Given the description of an element on the screen output the (x, y) to click on. 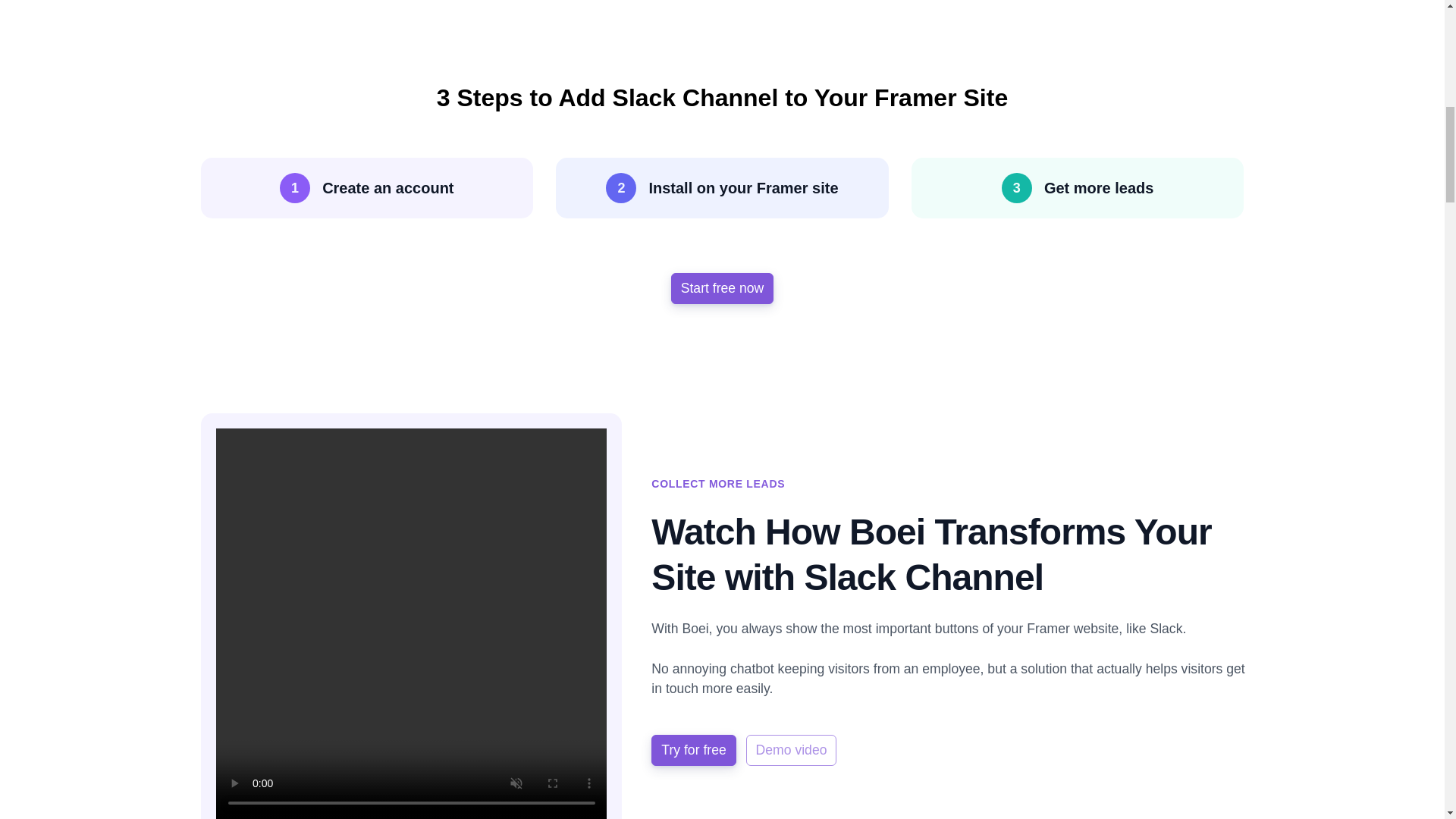
Start free now (722, 287)
Demo video (791, 749)
Try for free (692, 749)
